Given the description of an element on the screen output the (x, y) to click on. 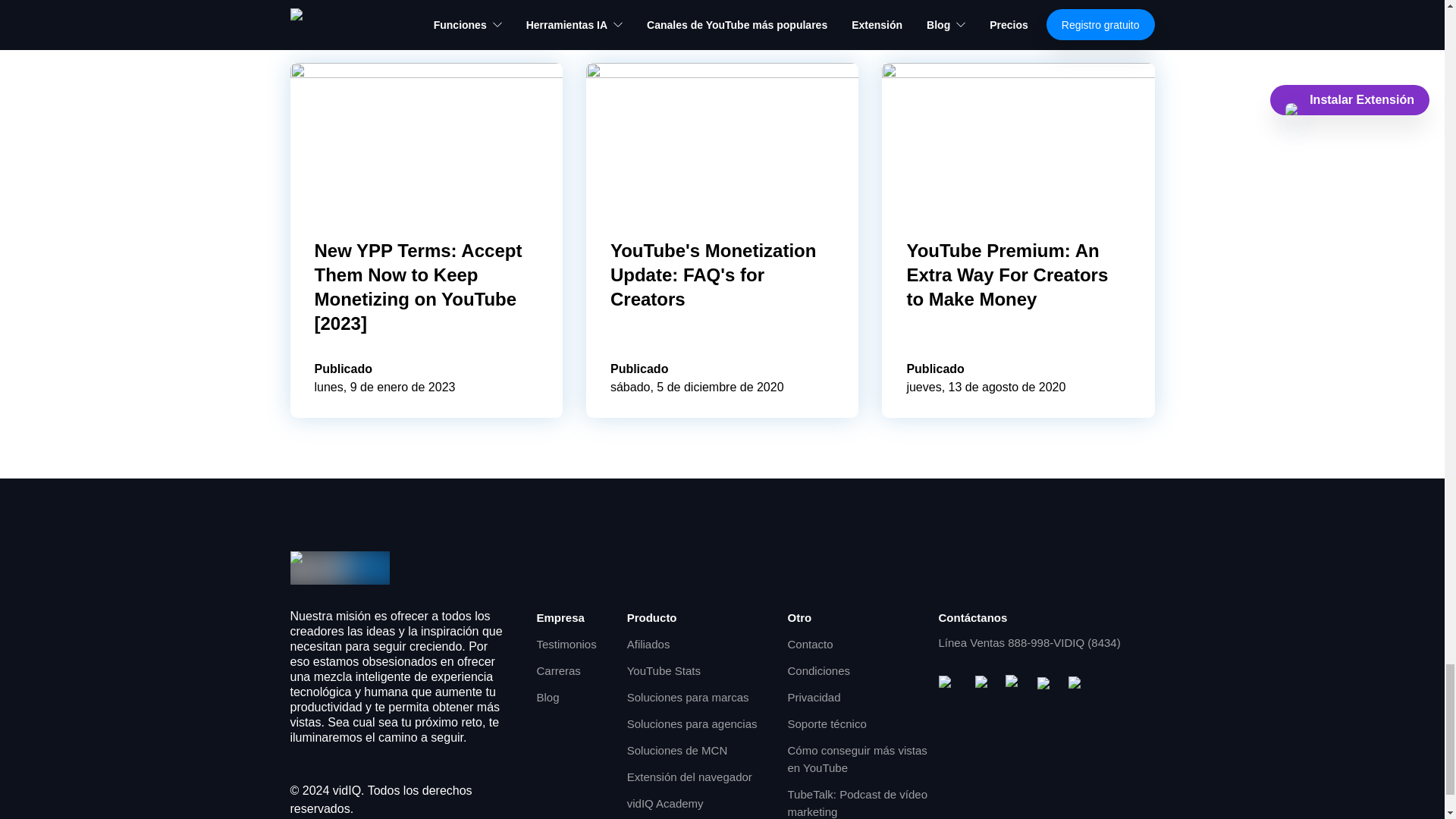
Instagram (1015, 684)
Twitter (1046, 684)
YouTube (950, 684)
Facebook (983, 684)
LinkedIn (1076, 684)
